Given the description of an element on the screen output the (x, y) to click on. 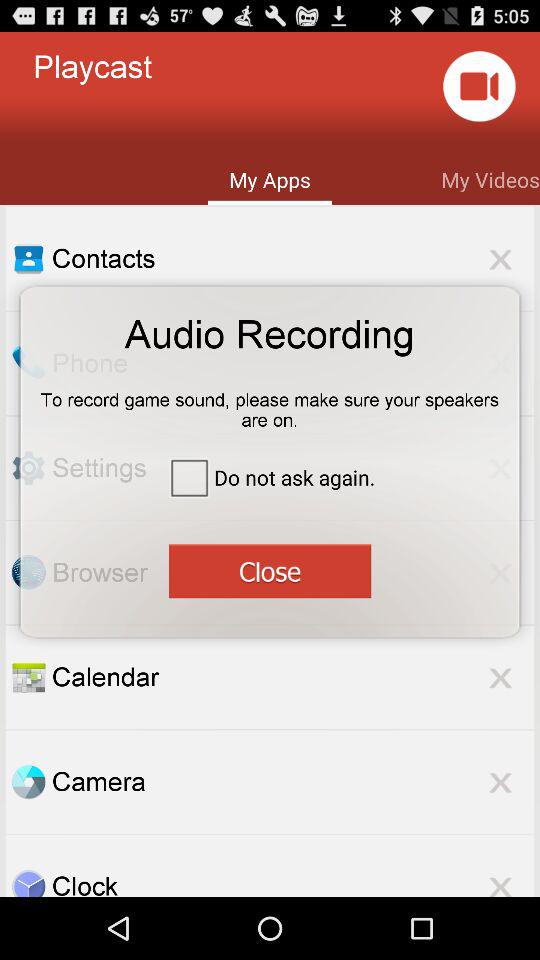
open item below the audio recording item (269, 403)
